Given the description of an element on the screen output the (x, y) to click on. 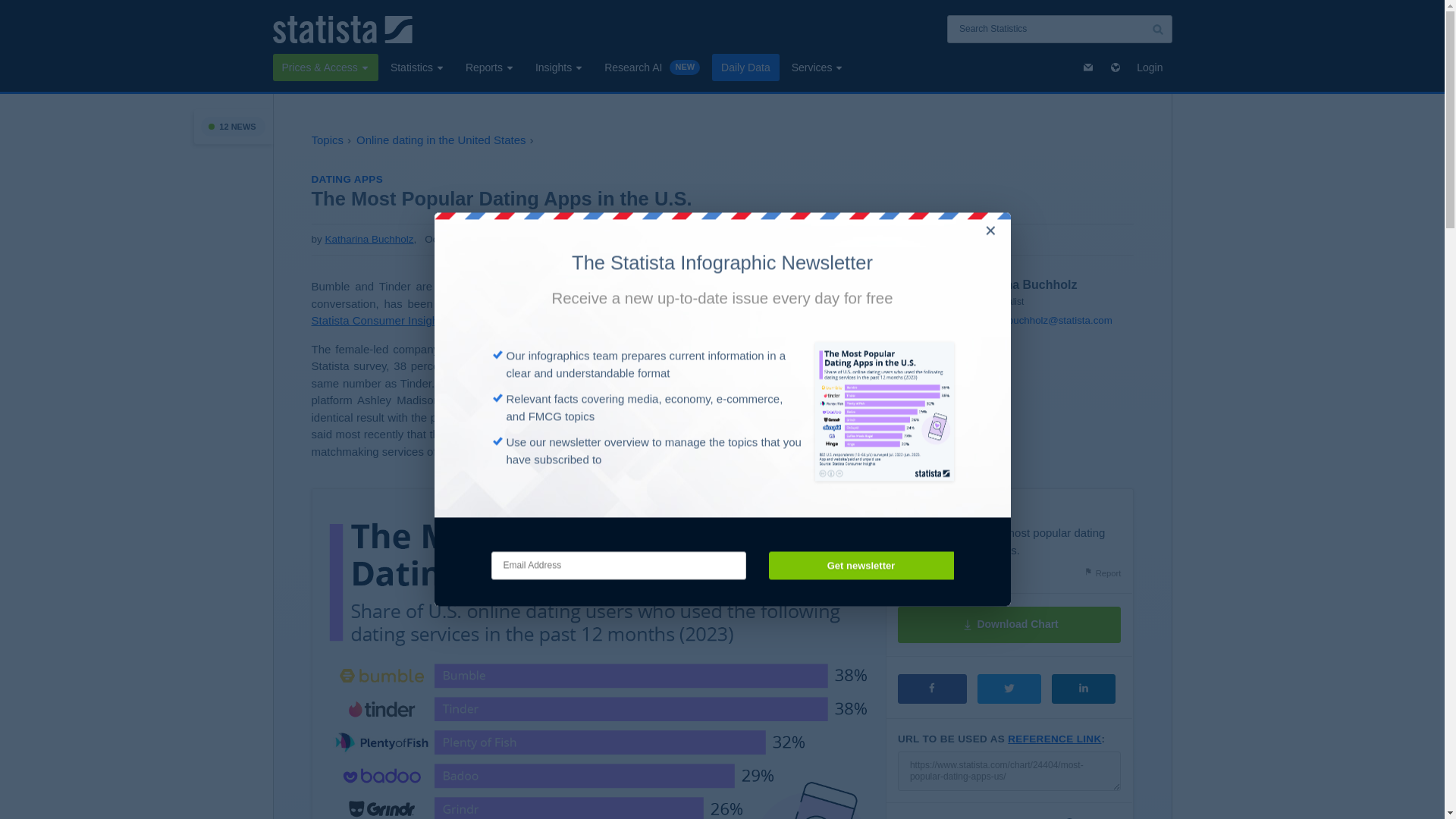
Skip to main content (12, 9)
Login (1149, 67)
Share on LinkedIn (1083, 688)
Reports (489, 67)
Search for content (1157, 28)
Statistics (416, 67)
Login (1149, 67)
October 6th, 2023 (451, 239)
Share on Twitter (1008, 688)
Download Chart (1009, 624)
